Given the description of an element on the screen output the (x, y) to click on. 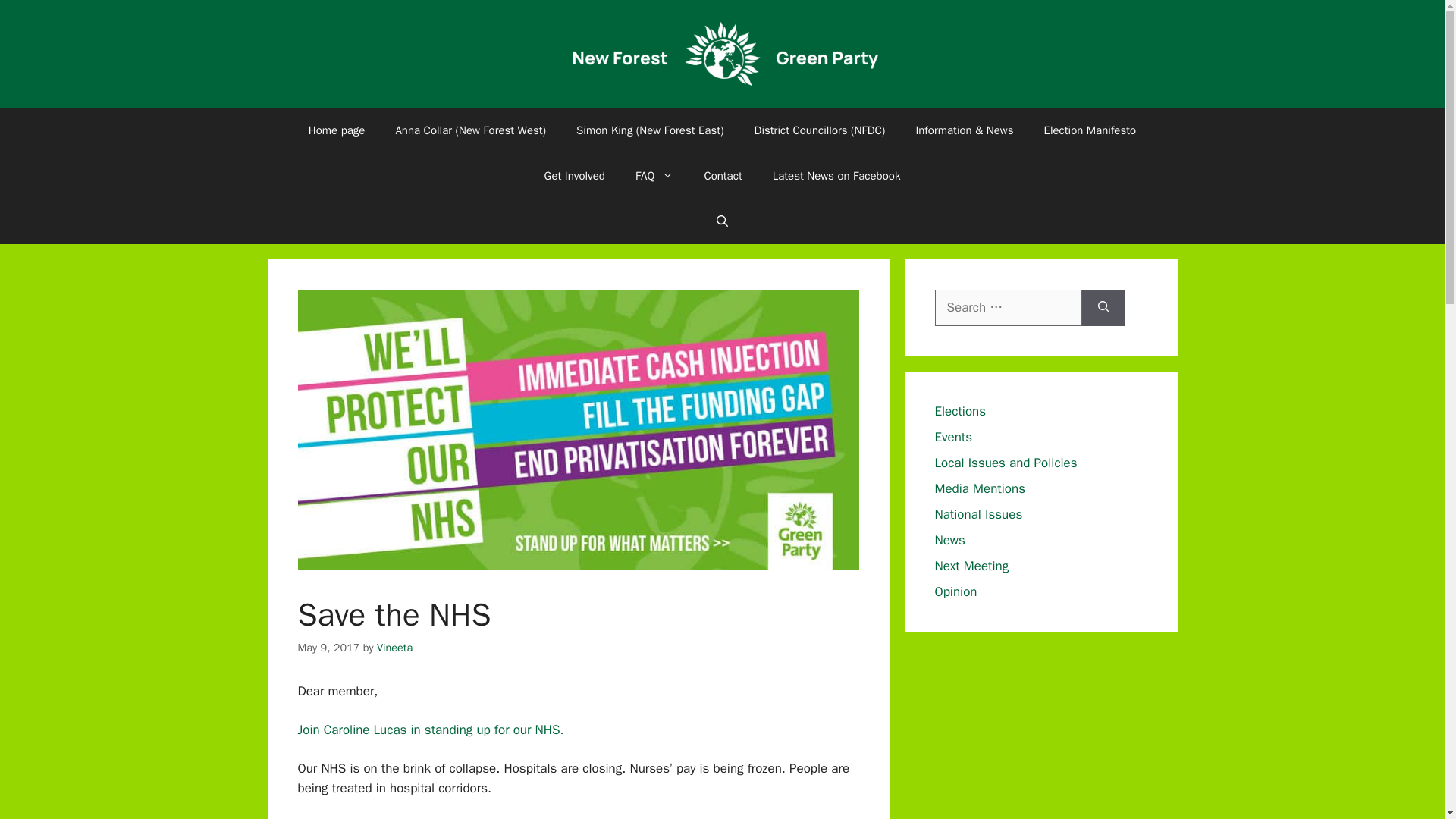
Contact (722, 176)
Opinion (955, 591)
New Forest Green Party (721, 52)
Get Involved (574, 176)
Join Caroline Lucas in standing up for our NHS. (430, 729)
Media Mentions (979, 488)
National Issues (978, 514)
Events (953, 437)
New Forest Green Party (721, 53)
Elections (959, 411)
